Given the description of an element on the screen output the (x, y) to click on. 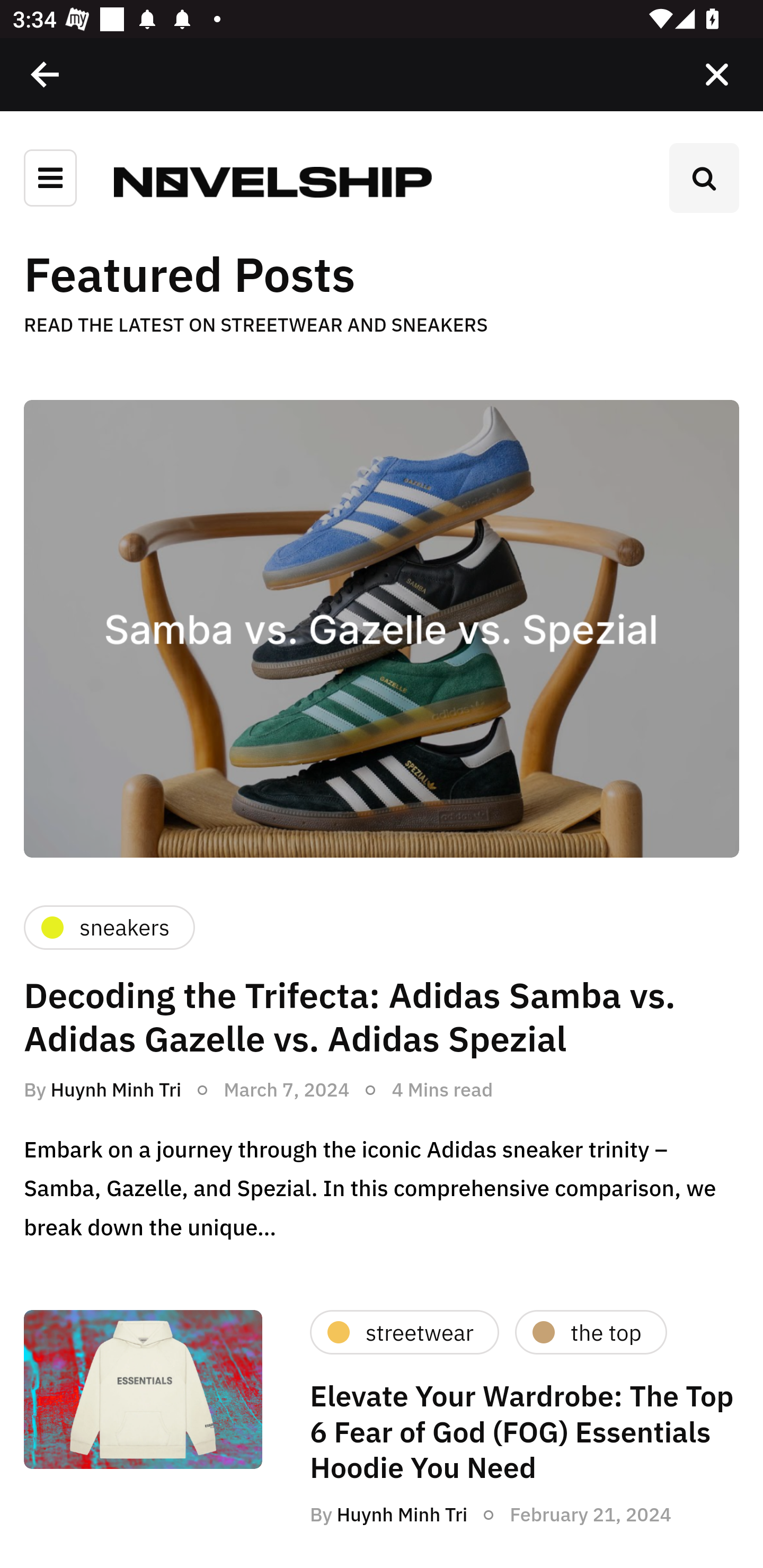
 (46, 74)
 (716, 74)
Search toggle (704, 177)
Novelship News (272, 181)
sneakers (109, 927)
Huynh Minh Tri (116, 1088)
streetwear (404, 1332)
the top (590, 1332)
Huynh Minh Tri (402, 1513)
